Given the description of an element on the screen output the (x, y) to click on. 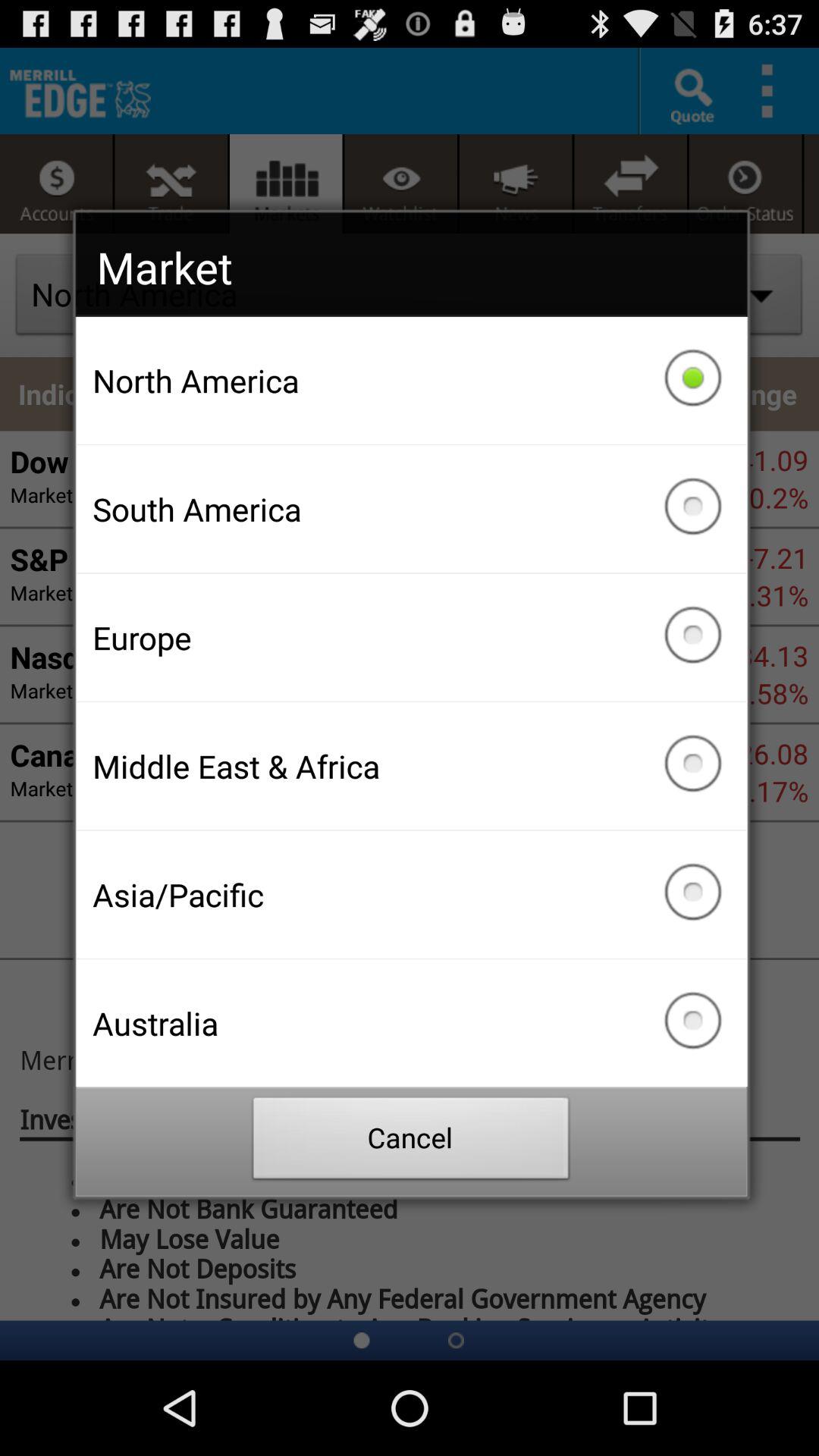
scroll to cancel button (410, 1142)
